Given the description of an element on the screen output the (x, y) to click on. 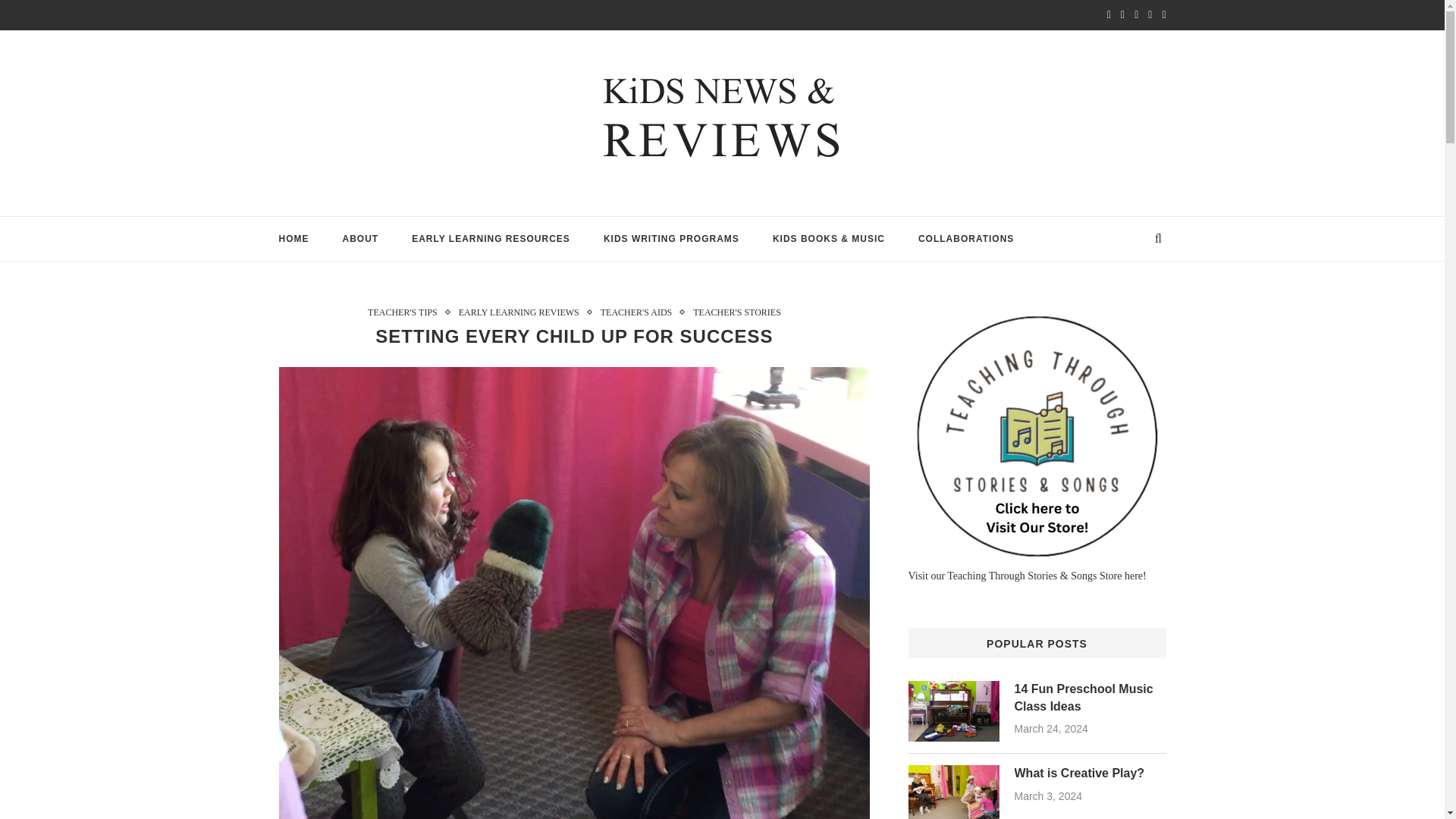
View all posts in Early Learning Reviews (522, 312)
EARLY LEARNING RESOURCES (491, 239)
View all posts in Teacher's Tips (406, 312)
View all posts in Teacher's Stories (736, 312)
KIDS WRITING PROGRAMS (671, 239)
View all posts in Teacher's Aids (639, 312)
